Given the description of an element on the screen output the (x, y) to click on. 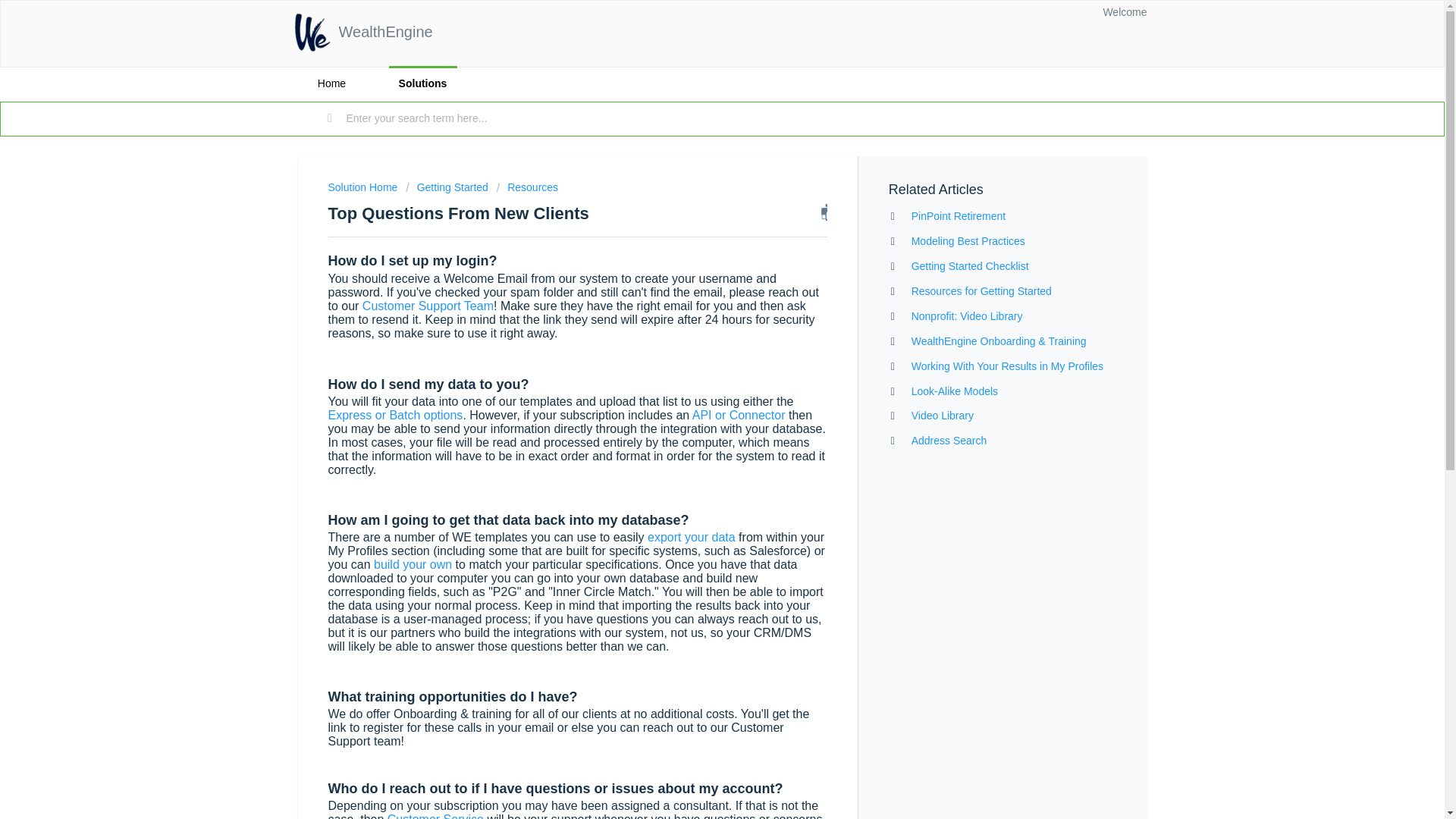
Video Library (942, 415)
Solutions (422, 83)
Modeling Best Practices (968, 241)
Getting Started Checklist (970, 265)
Express or Batch options (395, 413)
export your data (691, 536)
Chat (1406, 779)
Solution Home (363, 186)
Nonprofit: Video Library (967, 316)
Home (331, 83)
